Given the description of an element on the screen output the (x, y) to click on. 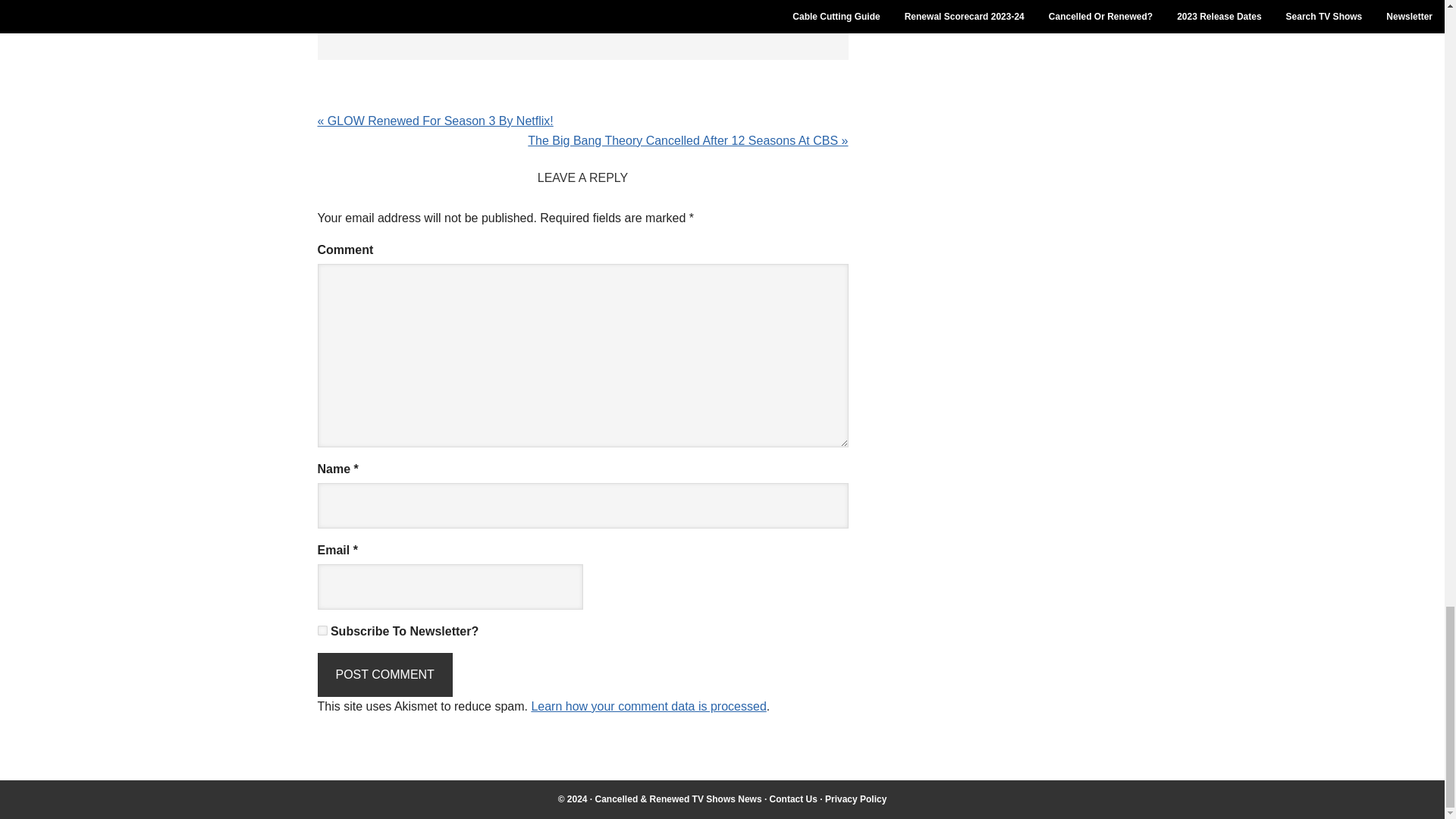
Post Comment (384, 674)
RenewCancelTV (678, 798)
1 (321, 630)
